Given the description of an element on the screen output the (x, y) to click on. 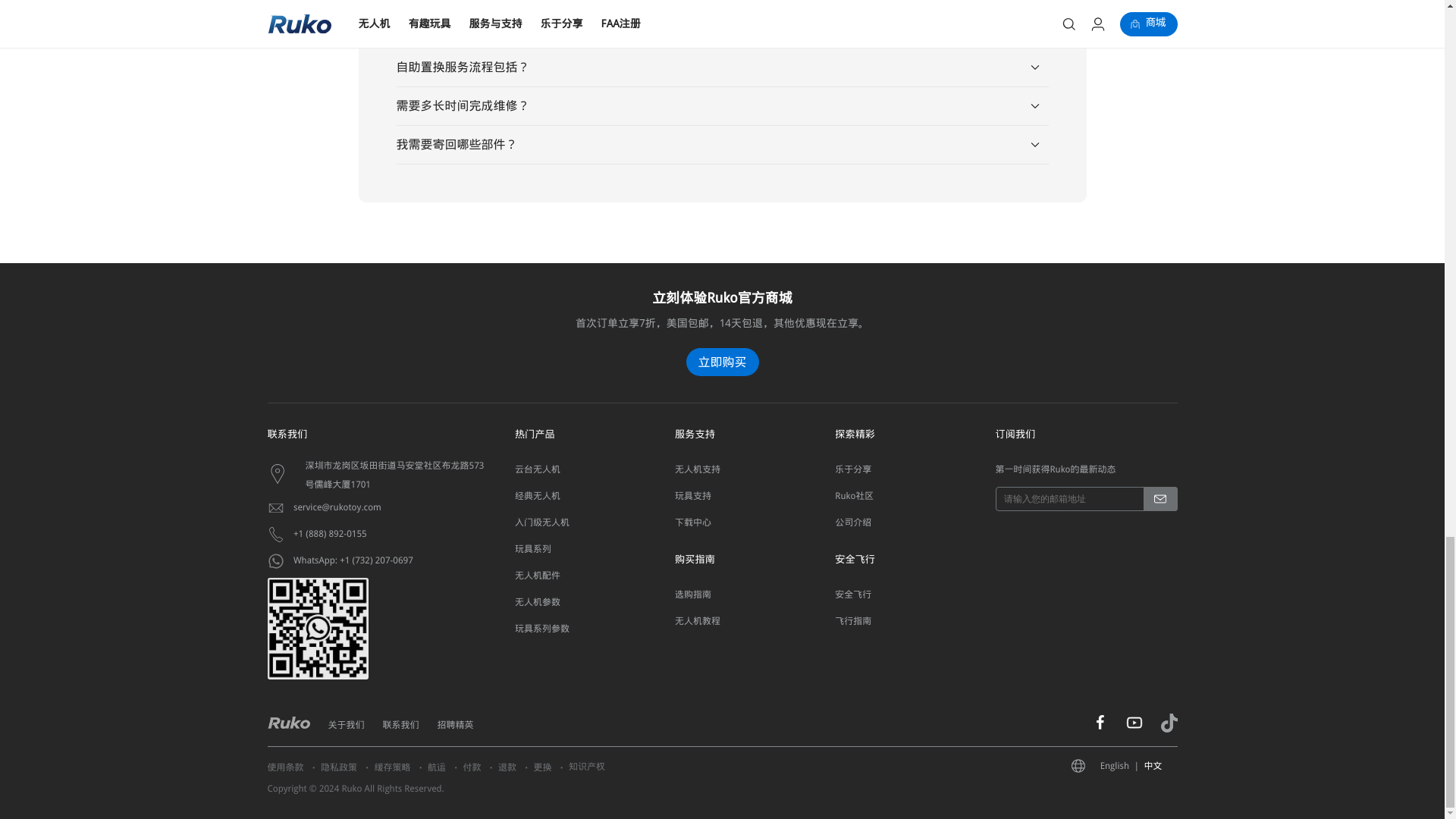
tiktok (1168, 728)
facebook (1099, 726)
youtube (1133, 727)
